Given the description of an element on the screen output the (x, y) to click on. 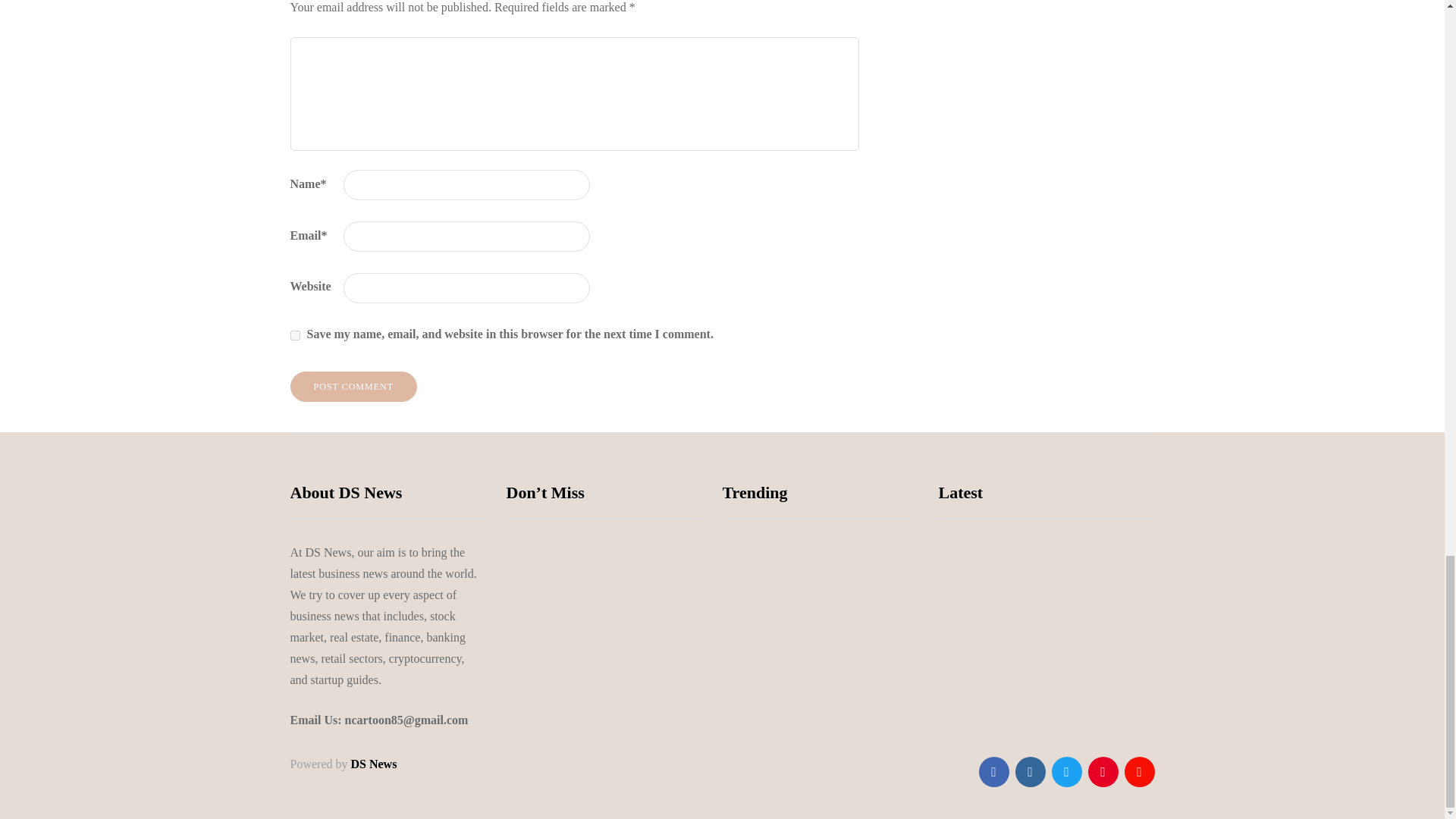
yes (294, 335)
Post comment (352, 386)
